Given the description of an element on the screen output the (x, y) to click on. 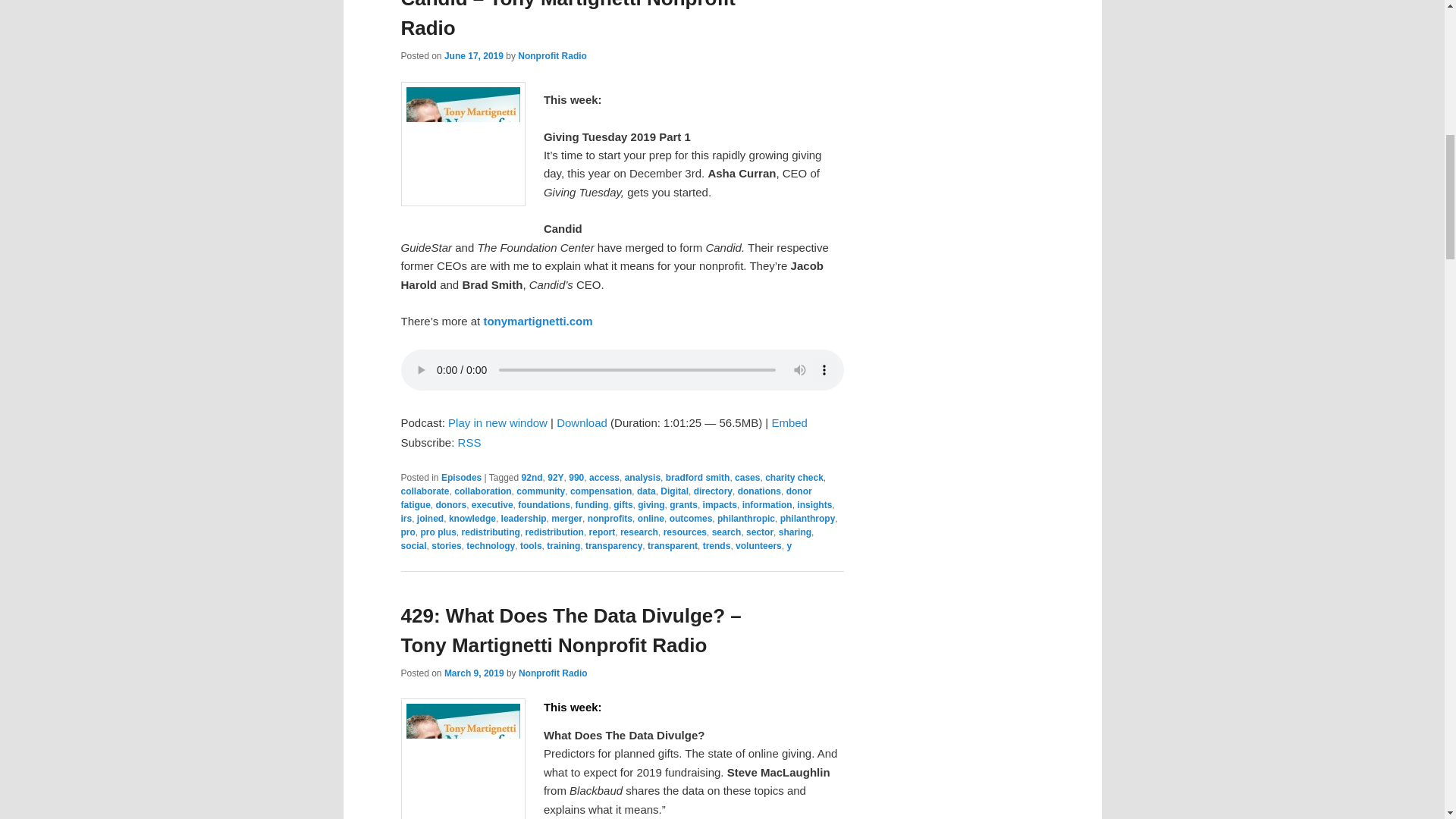
Play in new window (497, 422)
Embed (789, 422)
1:08 pm (473, 673)
View all posts by Nonprofit Radio (553, 673)
View all posts by Nonprofit Radio (552, 55)
Download (581, 422)
Subscribe via RSS (469, 441)
8:25 am (473, 55)
